Given the description of an element on the screen output the (x, y) to click on. 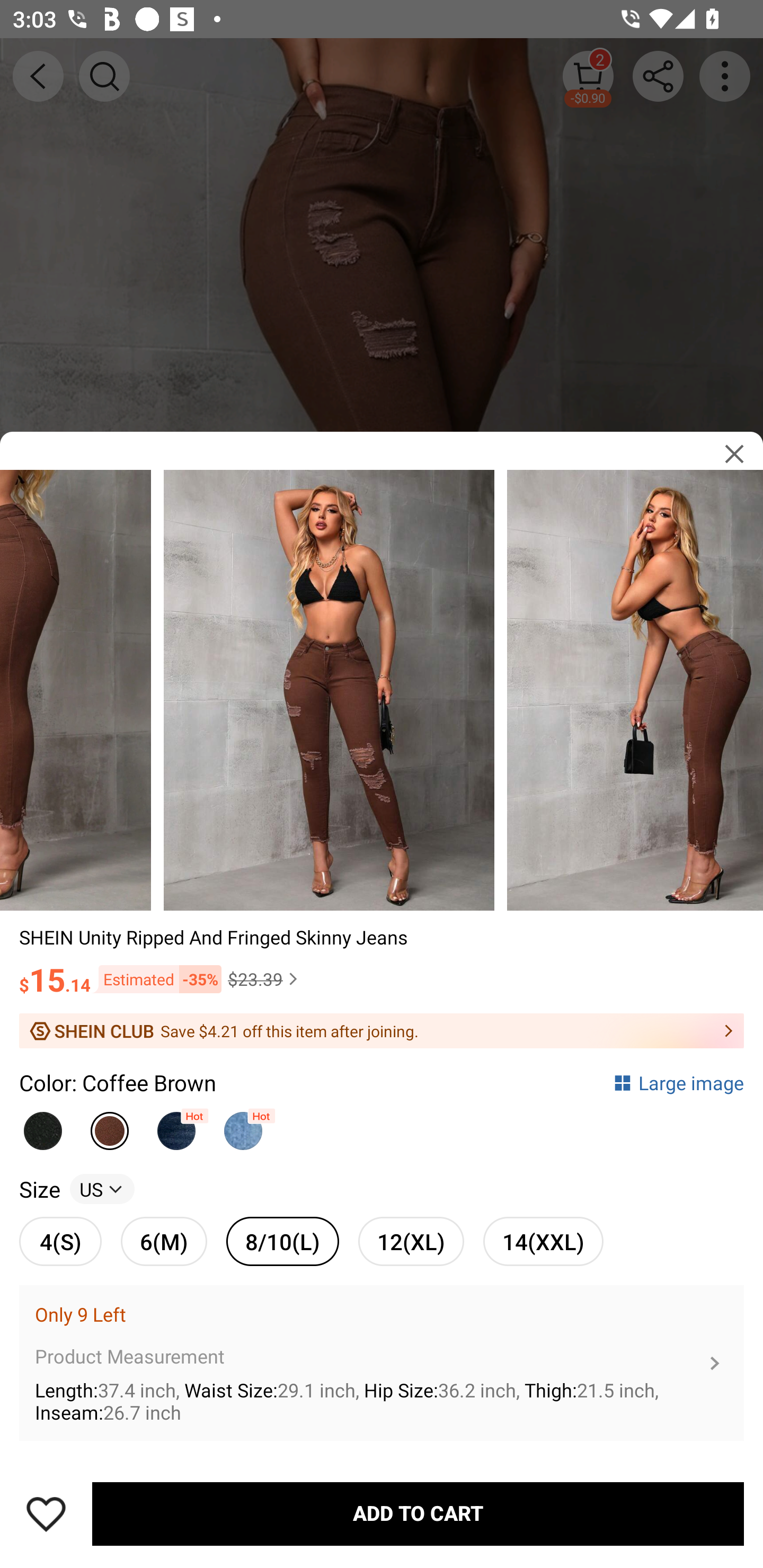
Estimated -35% (155, 978)
$23.39 (265, 978)
Save $4.21 off this item after joining. (381, 1030)
Color: Coffee Brown (117, 1082)
Large image (677, 1082)
Black (42, 1125)
Coffee Brown (109, 1125)
Dark Wash (176, 1125)
Light Wash (242, 1125)
Size (39, 1189)
US (102, 1189)
4(S) 4(S)unselected option (60, 1240)
6(M) 6(M)unselected option (163, 1240)
8/10(L) 8/10(L)selected option (282, 1240)
12(XL) 12(XL)unselected option (410, 1240)
14(XXL) 14(XXL)unselected option (542, 1240)
ADD TO CART (417, 1513)
Save (46, 1513)
